Given the description of an element on the screen output the (x, y) to click on. 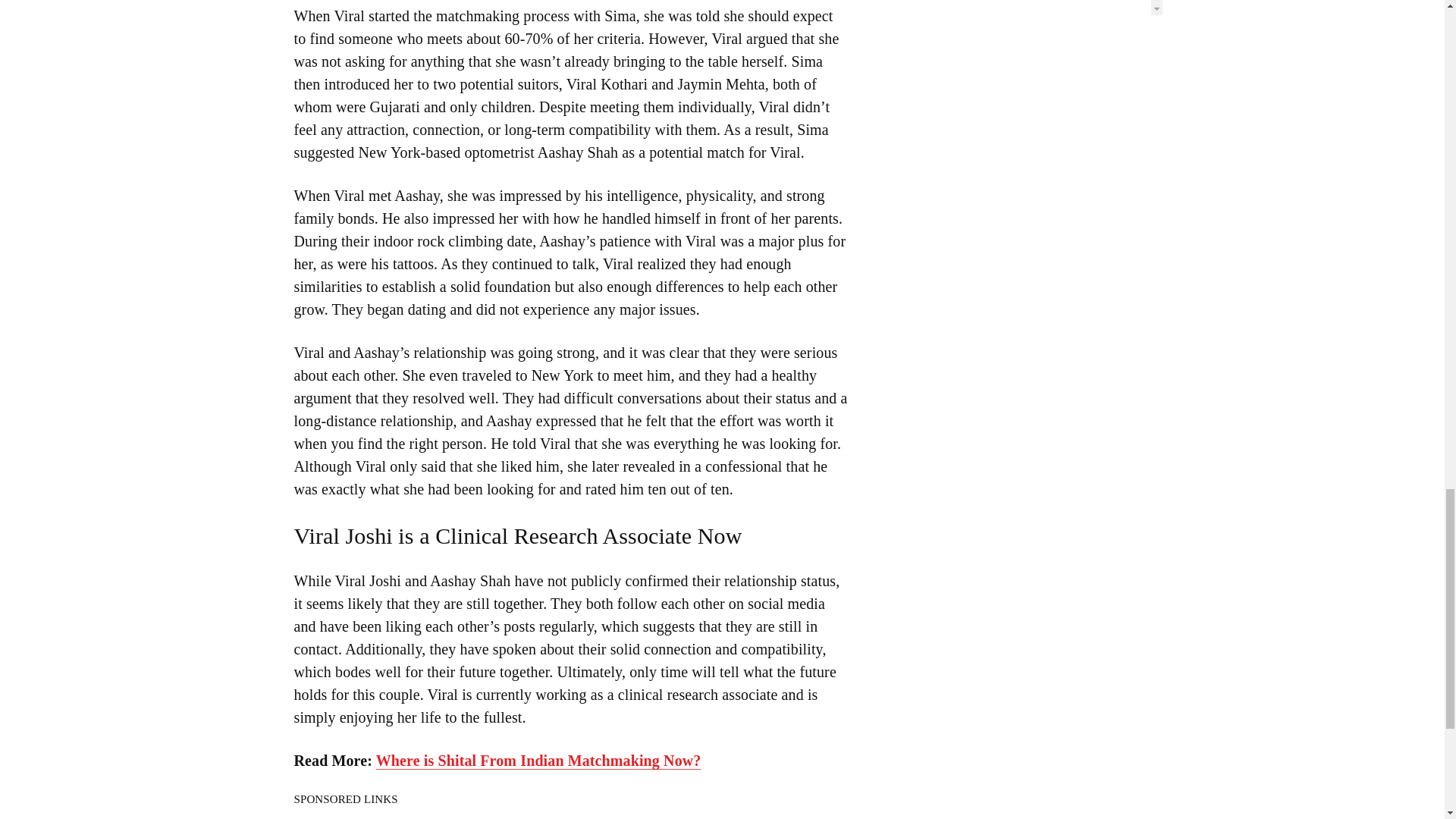
Where is Shital From Indian Matchmaking Now? (538, 760)
